Given the description of an element on the screen output the (x, y) to click on. 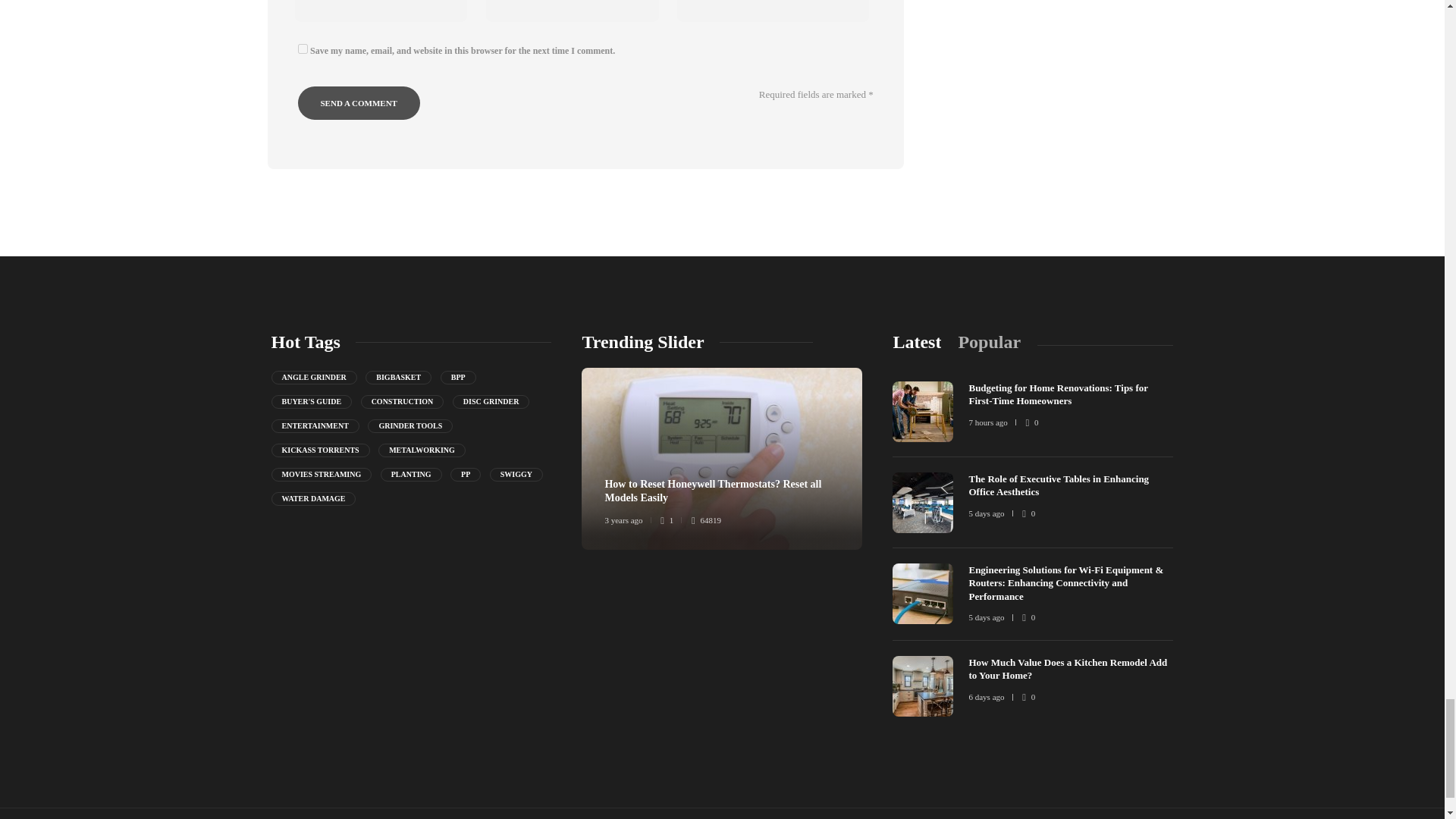
yes (302, 49)
Send a comment (358, 102)
